Given the description of an element on the screen output the (x, y) to click on. 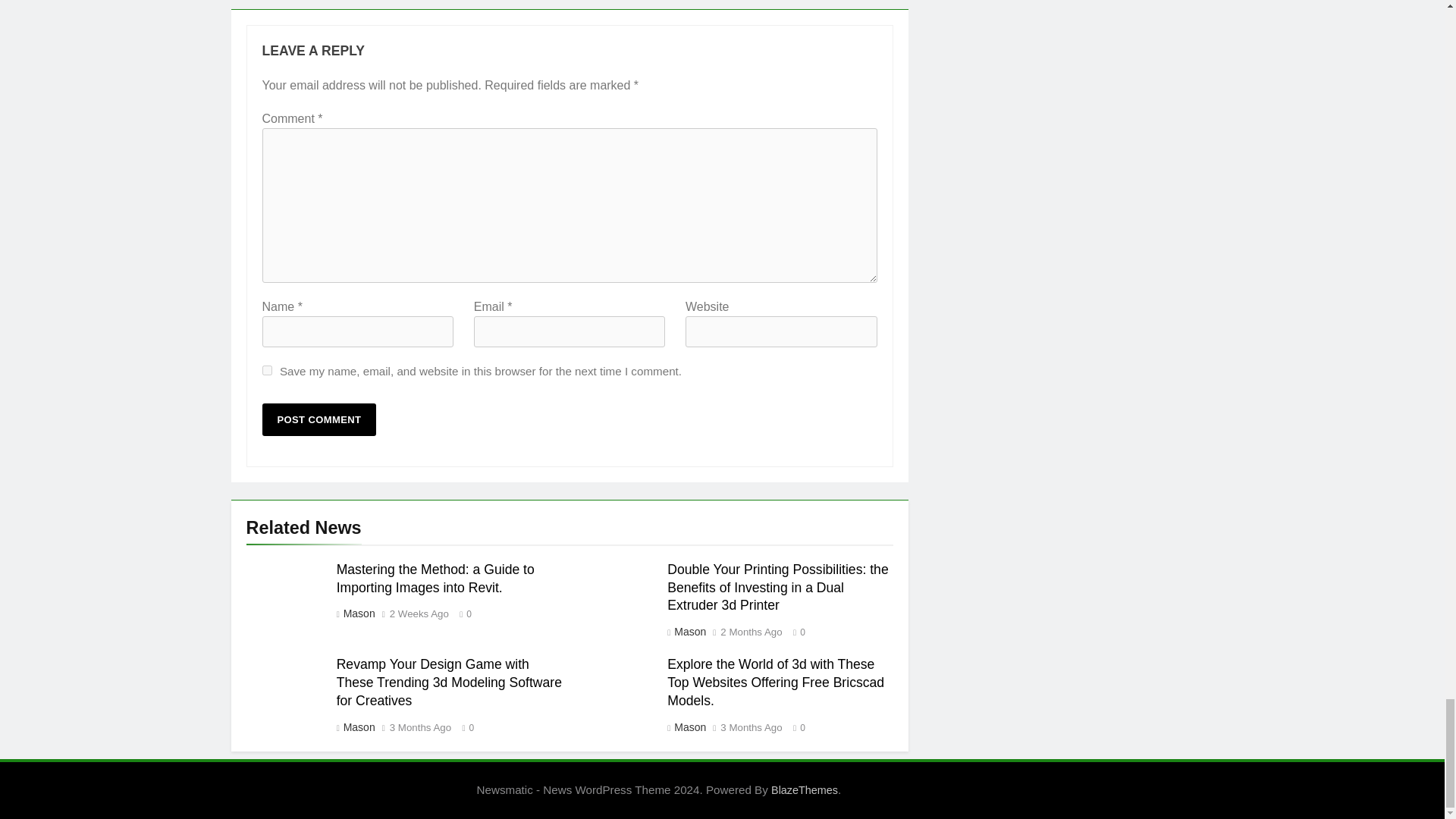
yes (267, 370)
Post Comment (319, 419)
